Given the description of an element on the screen output the (x, y) to click on. 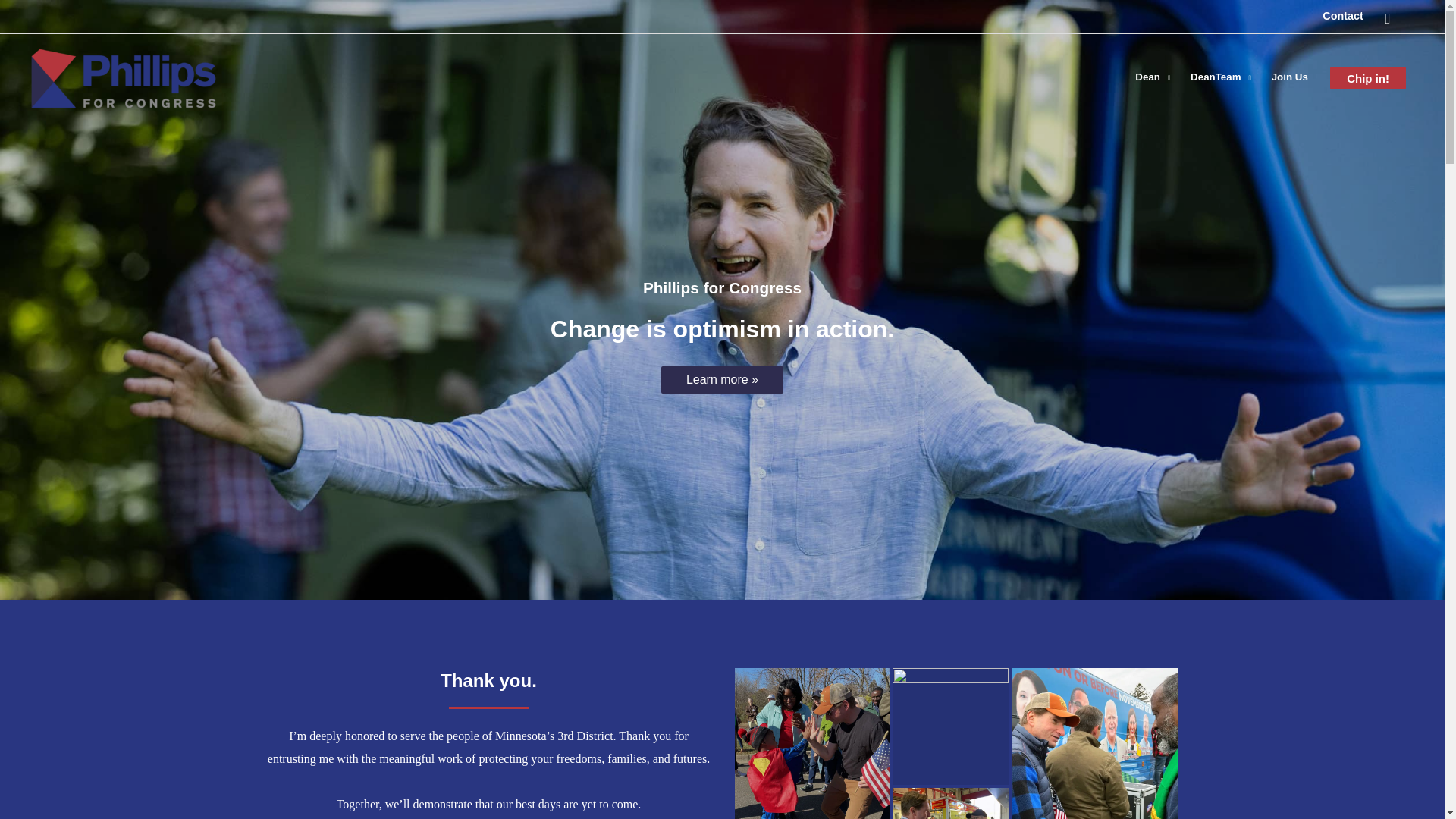
DeanTeam (1221, 75)
Dean (1152, 75)
Contact (1342, 15)
